Given the description of an element on the screen output the (x, y) to click on. 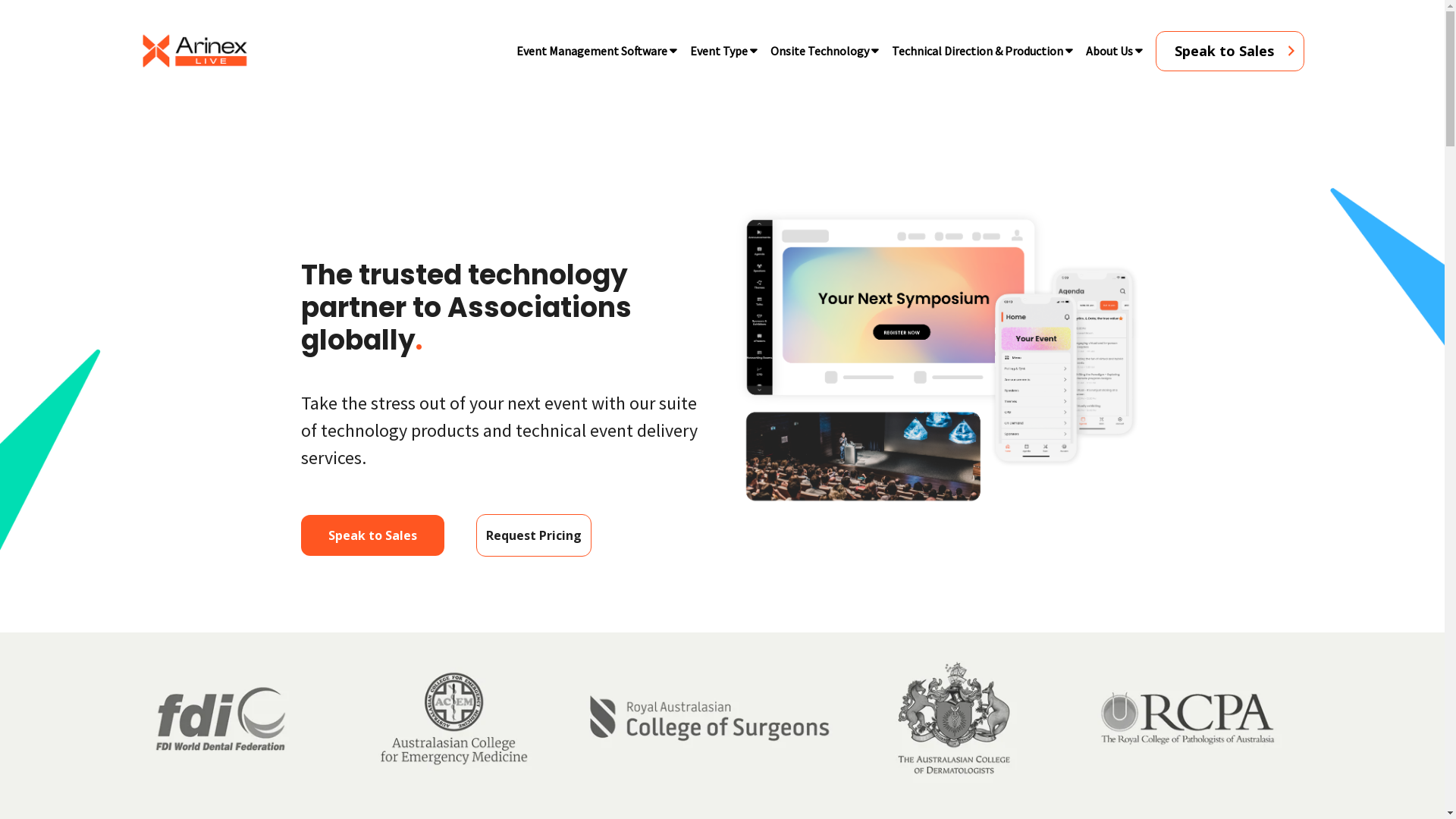
Speak to Sales Element type: text (1229, 50)
Onsite Technology Element type: text (818, 50)
Event Type Element type: text (717, 50)
About Us Element type: text (1108, 50)
Technical Direction & Production Element type: text (976, 50)
Speak to Sales Element type: text (372, 534)
Request Pricing Element type: text (533, 535)
JOYN event technology  Element type: hover (938, 357)
Event Management Software Element type: text (591, 50)
